Given the description of an element on the screen output the (x, y) to click on. 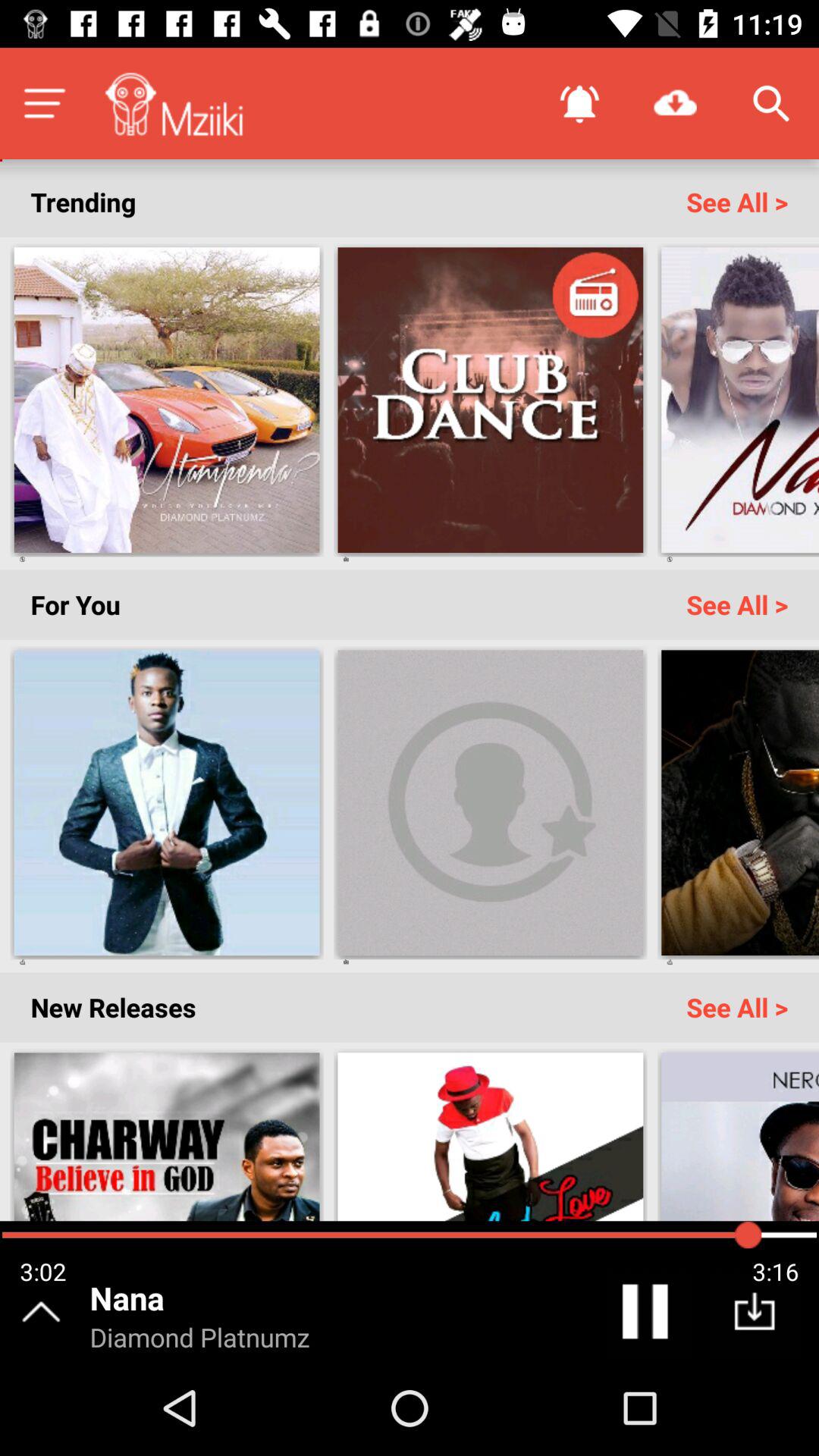
menu (44, 103)
